Given the description of an element on the screen output the (x, y) to click on. 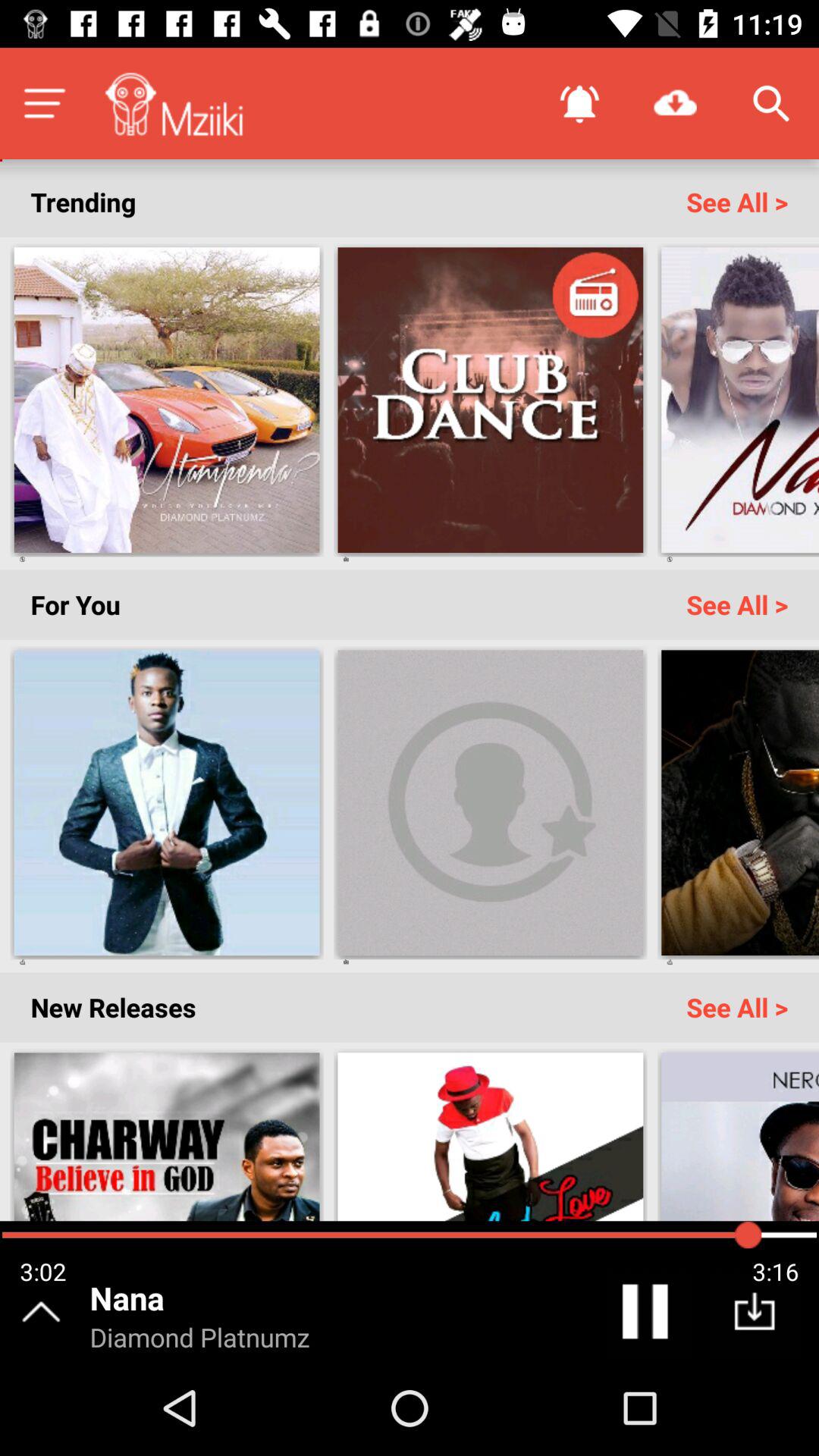
menu (44, 103)
